Given the description of an element on the screen output the (x, y) to click on. 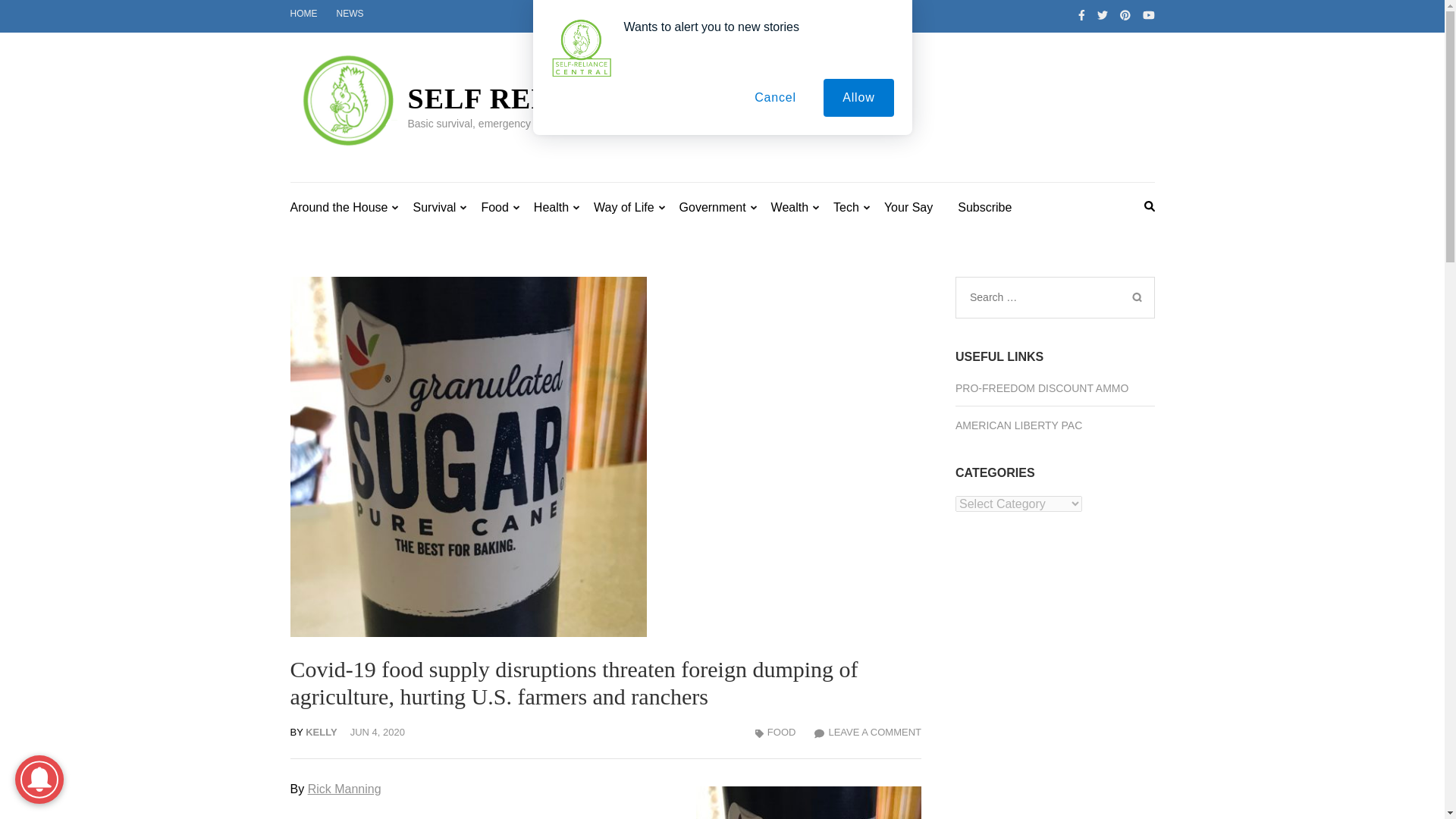
Search (1136, 297)
Search (1136, 297)
Youtube (1148, 15)
